Given the description of an element on the screen output the (x, y) to click on. 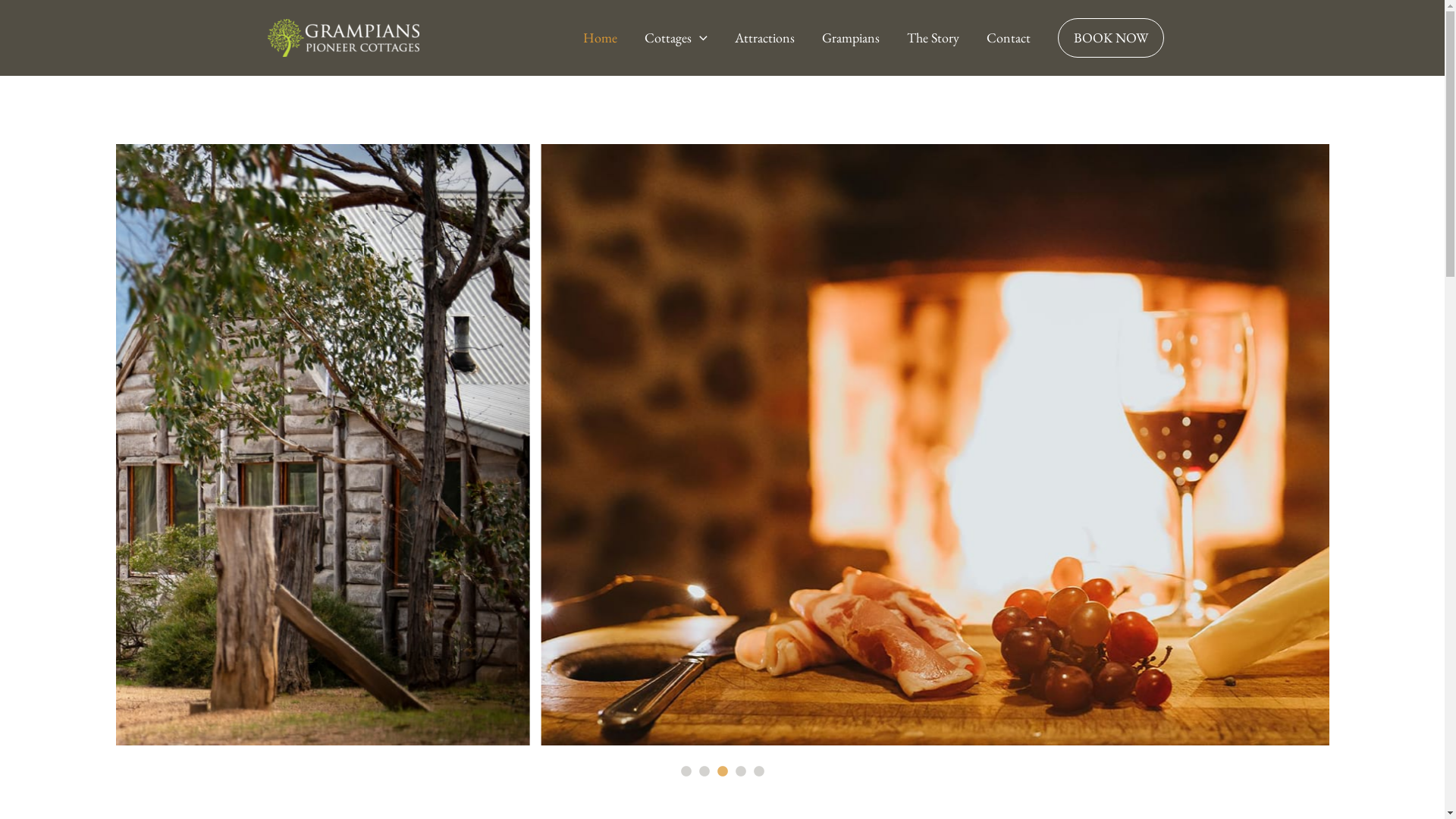
Contact Element type: text (1007, 37)
2 Element type: text (703, 771)
3 Element type: text (721, 771)
BOOK NOW Element type: text (1109, 37)
Cottages Element type: text (675, 37)
1 Element type: text (685, 771)
Grampians Element type: text (850, 37)
5 Element type: text (757, 771)
4 Element type: text (739, 771)
Attractions Element type: text (763, 37)
Home Element type: text (599, 37)
The Story Element type: text (932, 37)
